Given the description of an element on the screen output the (x, y) to click on. 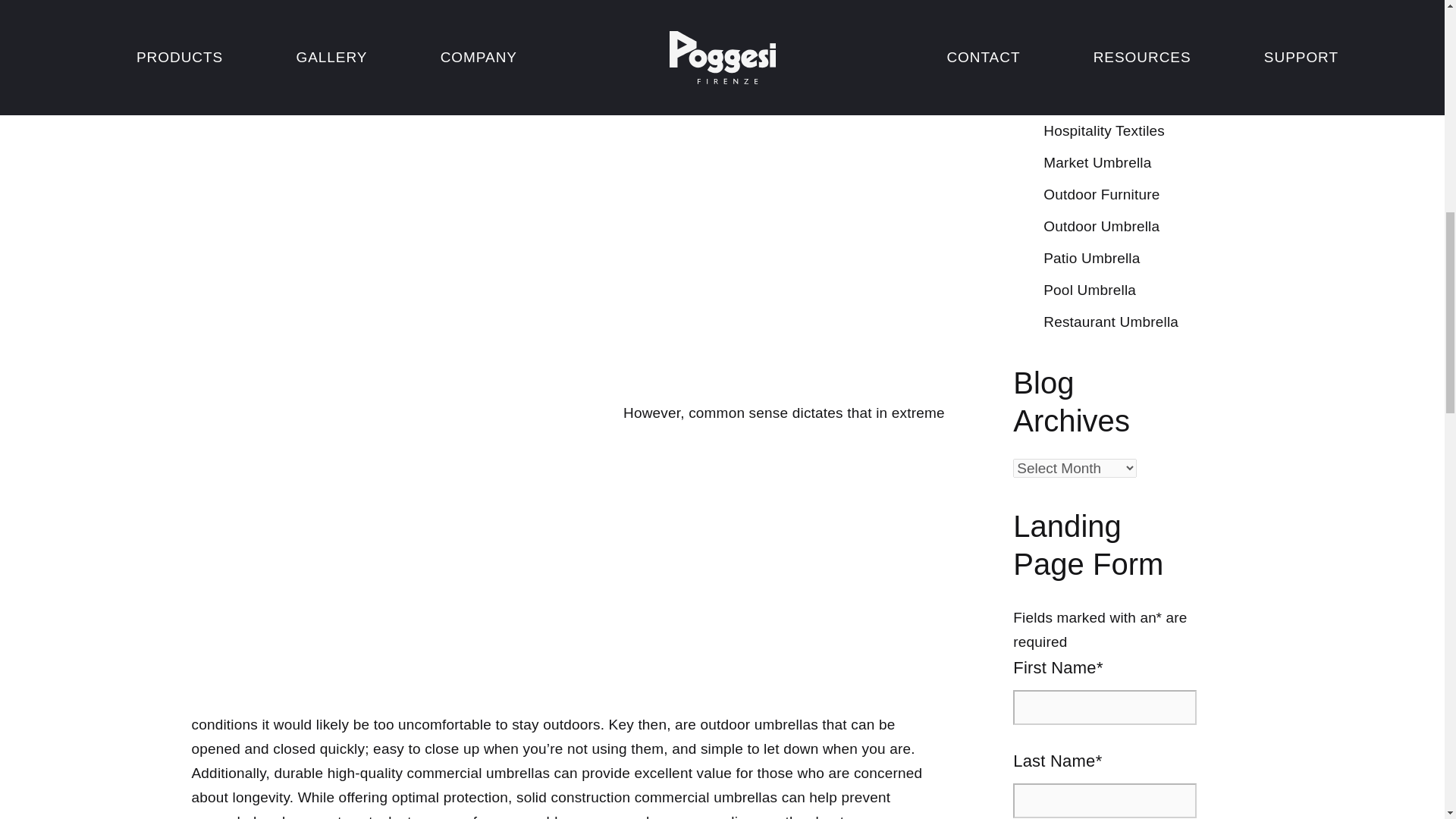
Gazebos (1072, 35)
patio umbrellas (422, 6)
commercial umbrellas (565, 29)
Hospitality Textiles (1103, 130)
Commercial Umbrella (1114, 6)
General (1069, 67)
Guides (1066, 98)
